Given the description of an element on the screen output the (x, y) to click on. 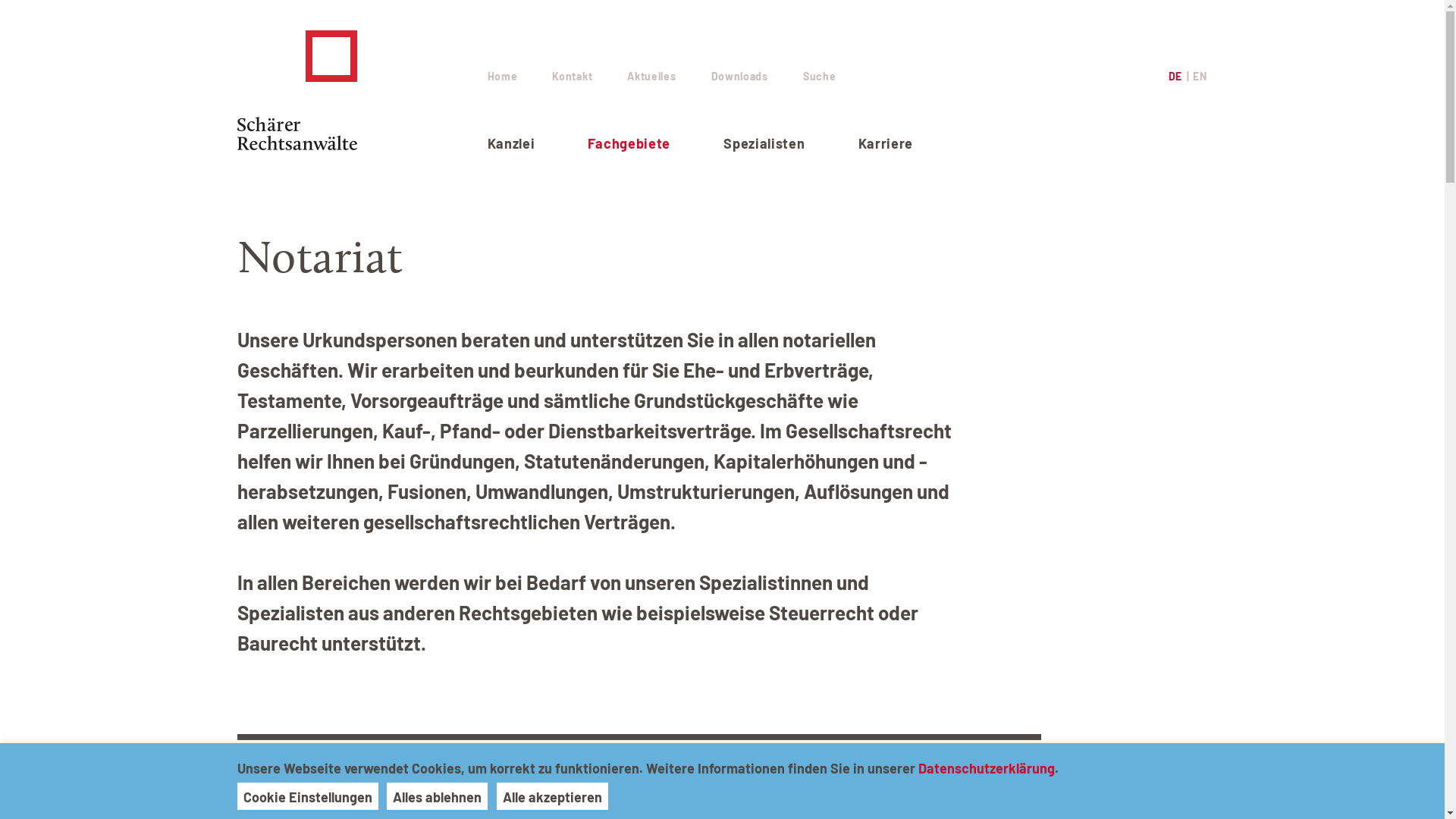
Aktuelles Element type: text (651, 75)
Fachgebiete Element type: text (628, 142)
Kanzlei Element type: text (510, 142)
Downloads Element type: text (739, 75)
Kontakt Element type: text (572, 75)
Karriere Element type: text (885, 142)
EN Element type: text (1199, 75)
Startseite Element type: hover (361, 90)
DE Element type: text (1174, 75)
Suche Element type: text (819, 75)
Alles ablehnen Element type: text (436, 795)
Alle akzeptieren Element type: text (551, 795)
Home Element type: text (501, 75)
Cookie Einstellungen Element type: text (306, 795)
Spezialisten Element type: text (763, 142)
